Given the description of an element on the screen output the (x, y) to click on. 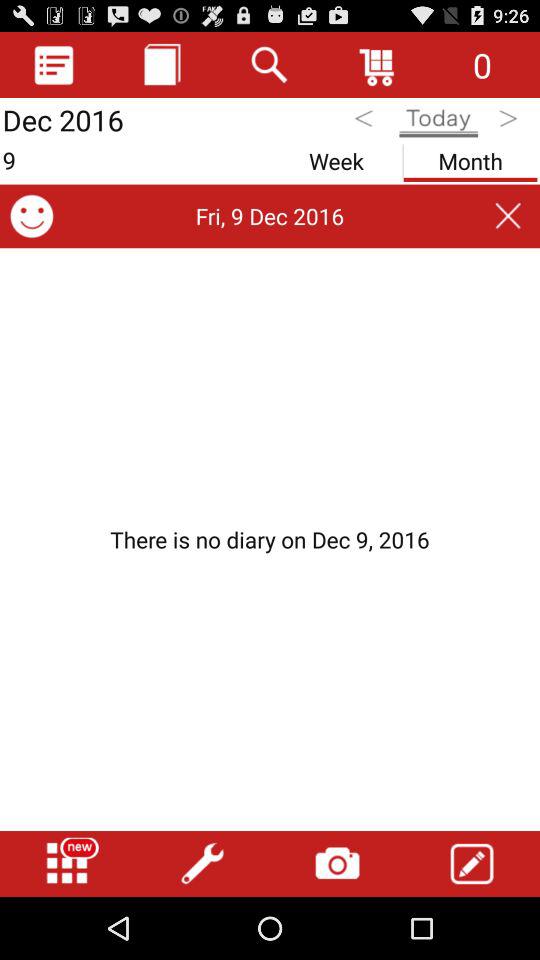
select month view (470, 157)
